Given the description of an element on the screen output the (x, y) to click on. 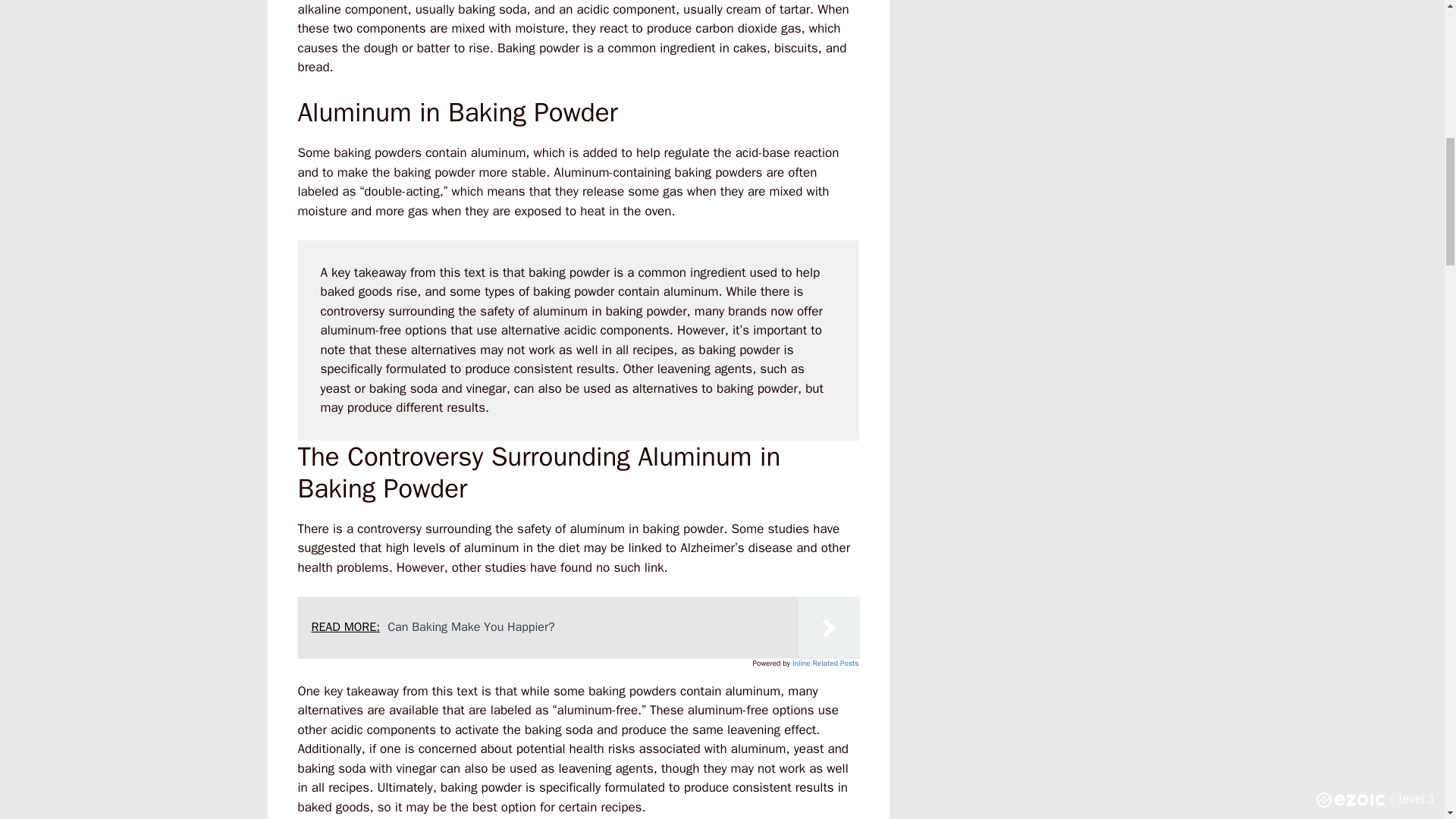
Inline Related Posts (825, 663)
Scroll back to top (1406, 720)
READ MORE:  Can Baking Make You Happier? (578, 627)
